Given the description of an element on the screen output the (x, y) to click on. 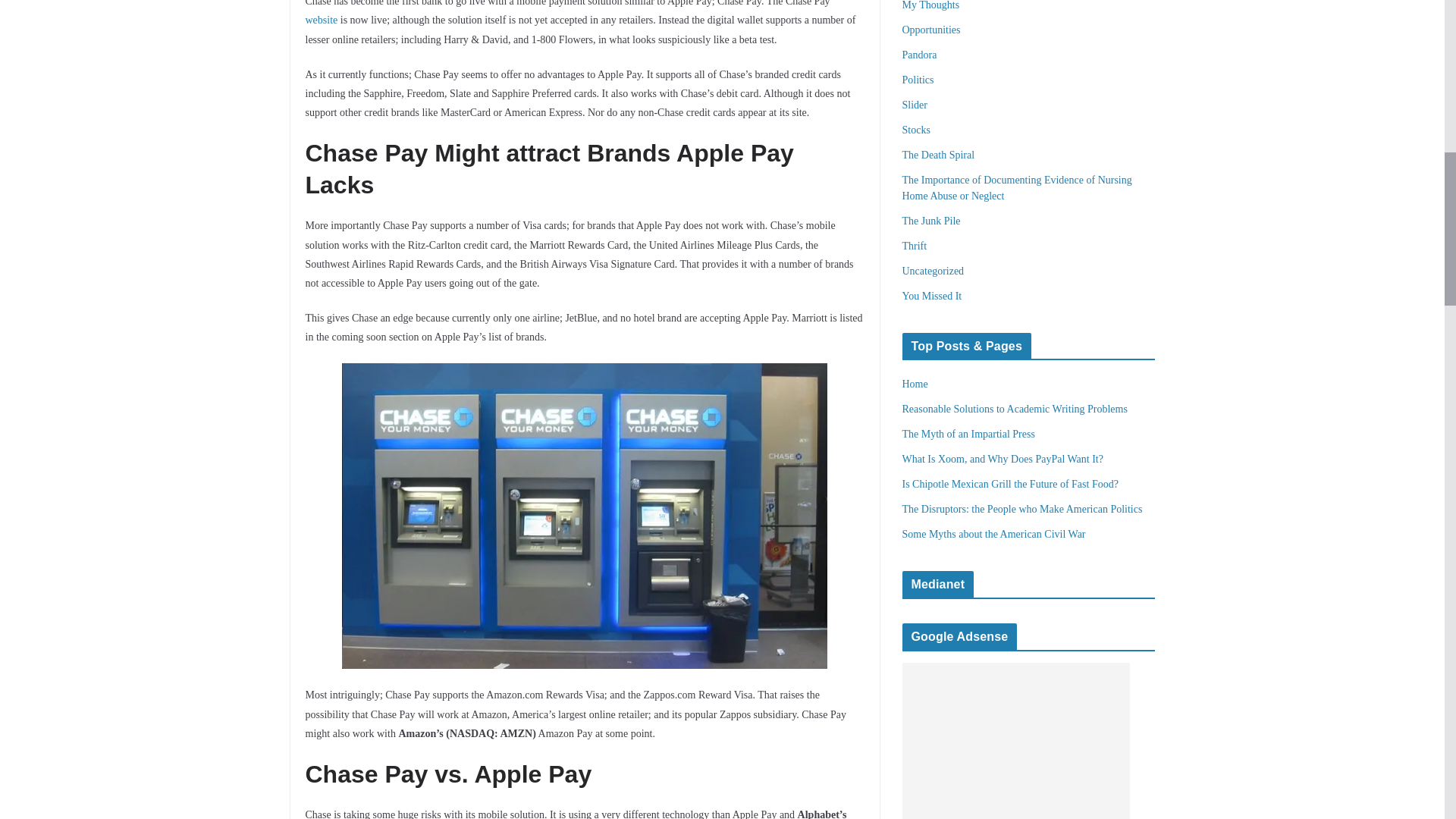
website (320, 19)
